Given the description of an element on the screen output the (x, y) to click on. 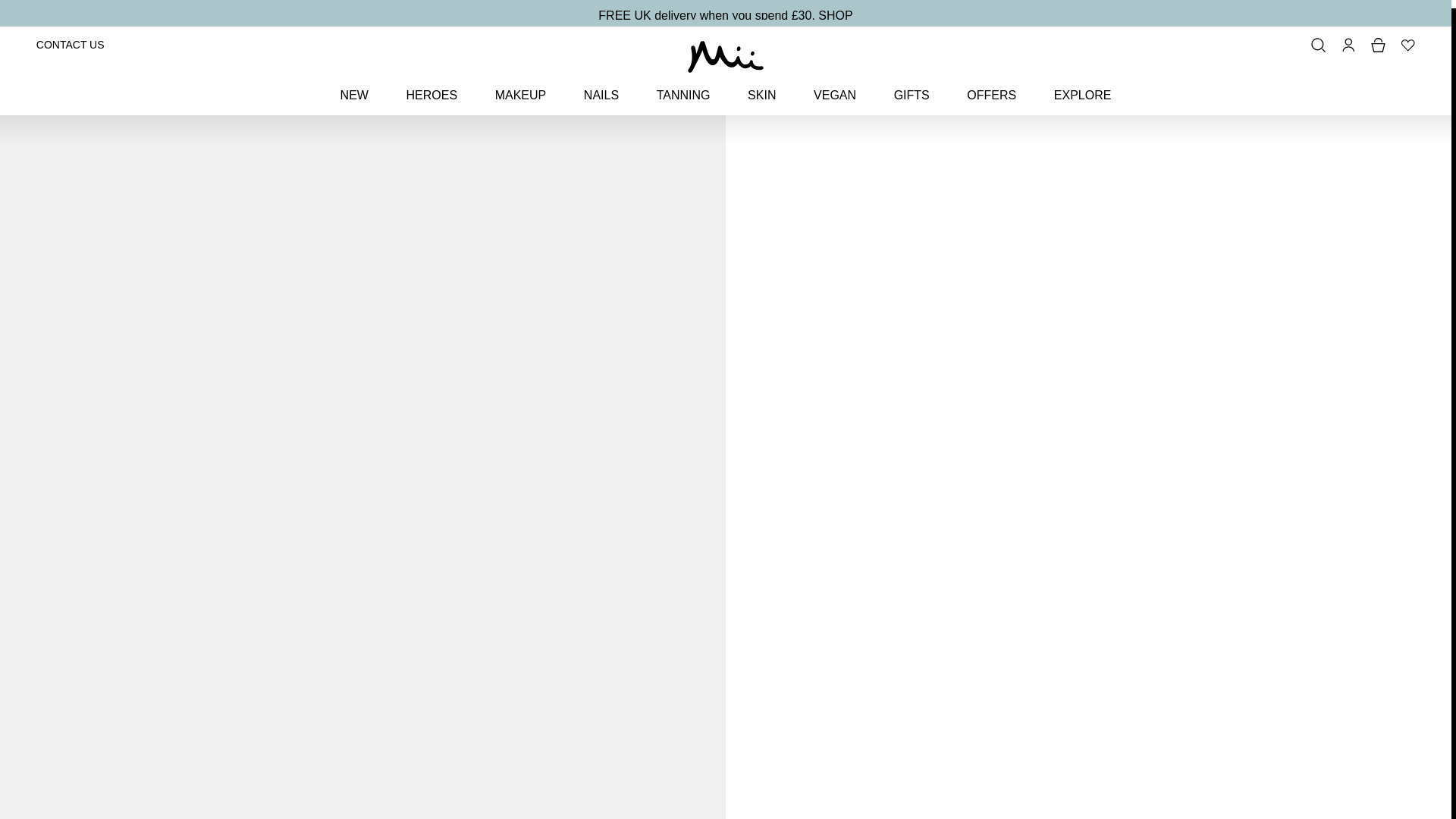
NEW (354, 87)
MAKEUP (520, 87)
CONTACT US (70, 36)
HEROES (431, 87)
SHOP (834, 6)
